Given the description of an element on the screen output the (x, y) to click on. 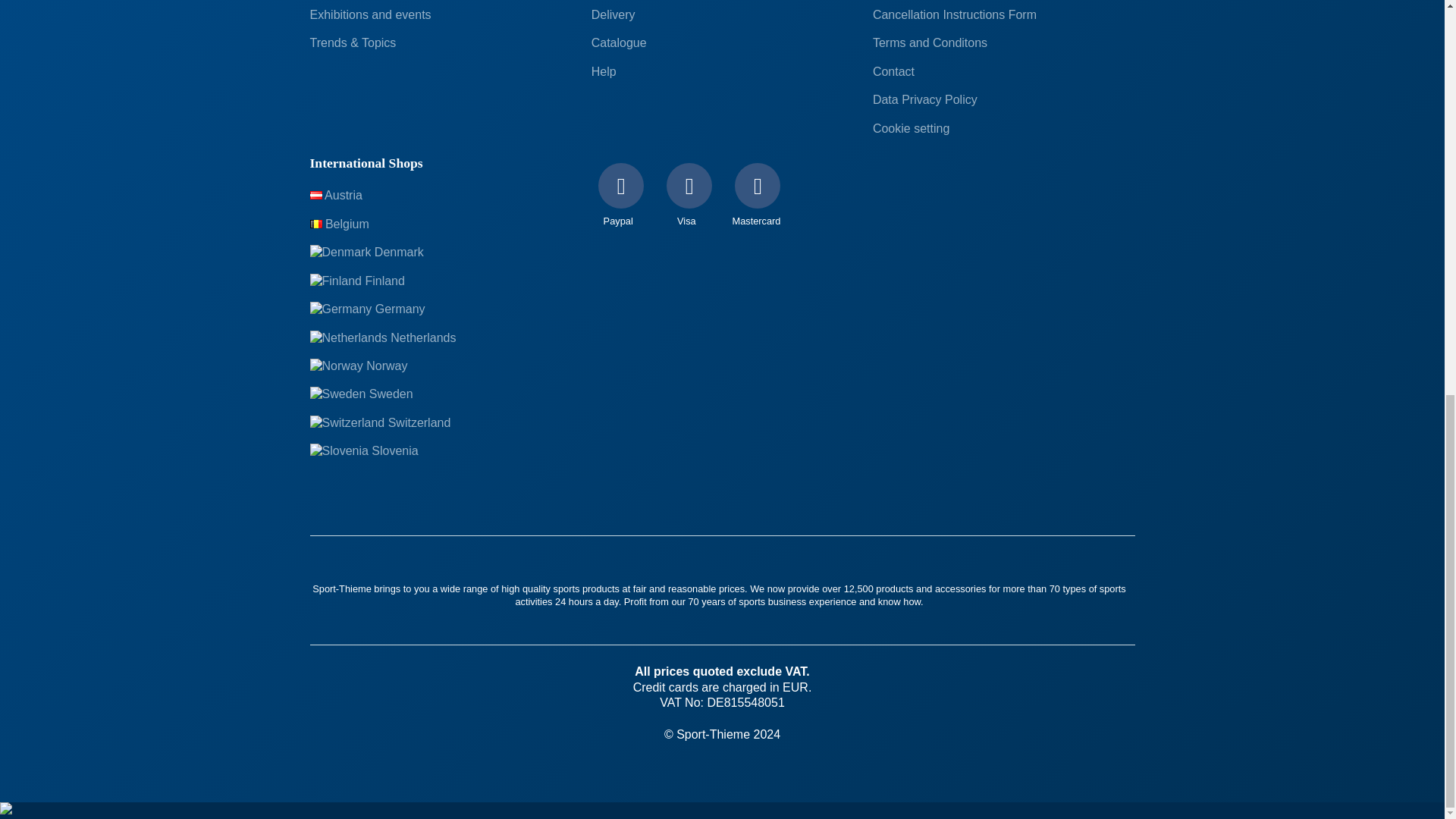
Mastercard (757, 200)
Visa (688, 200)
Paypal (620, 200)
